Given the description of an element on the screen output the (x, y) to click on. 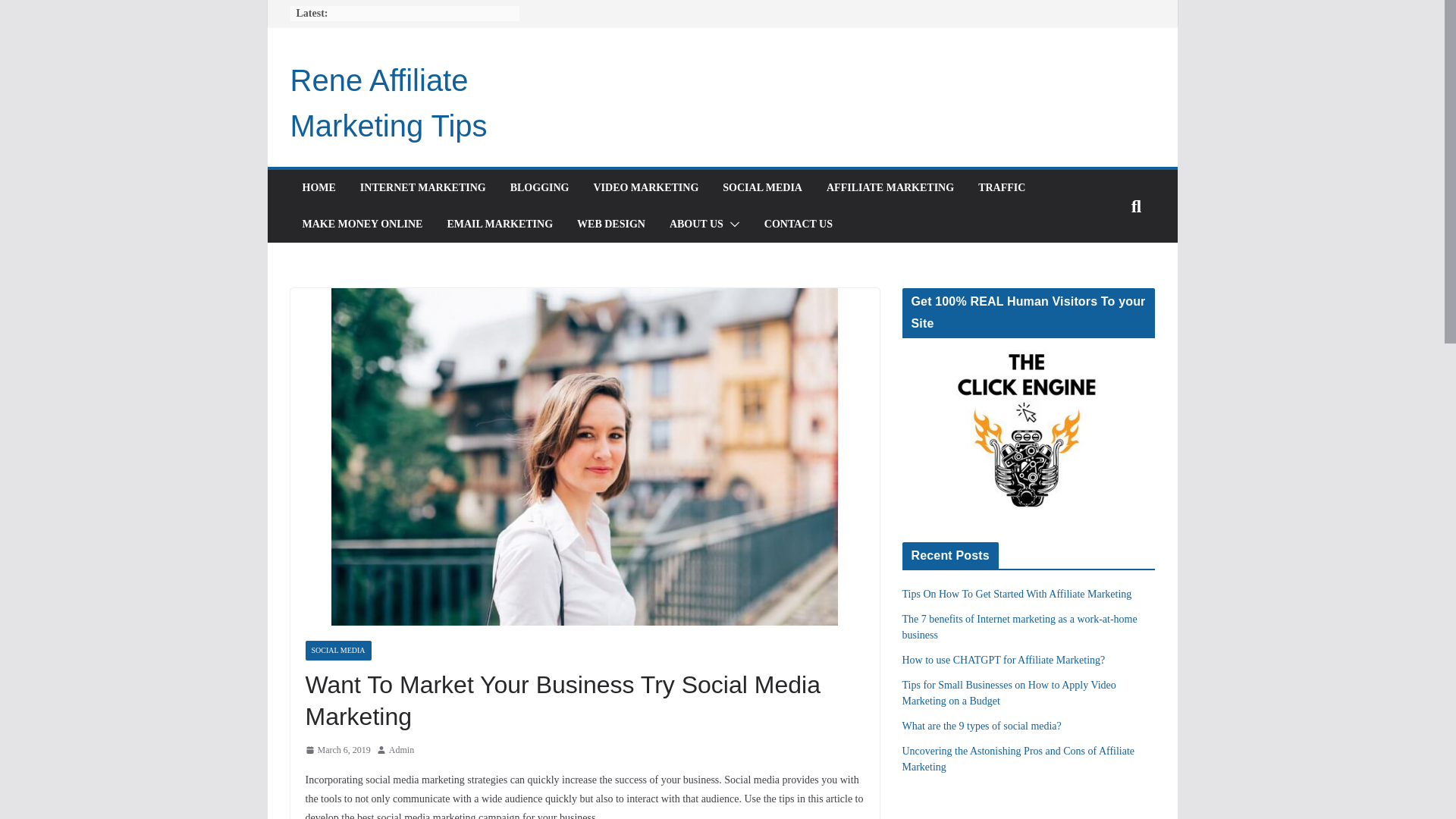
CONTACT US (798, 224)
AFFILIATE MARKETING (890, 188)
5:14 pm (336, 750)
SOCIAL MEDIA (337, 650)
Rene Affiliate Marketing Tips (387, 102)
WEB DESIGN (610, 224)
INTERNET MARKETING (422, 188)
MAKE MONEY ONLINE (361, 224)
Tips On How To Get Started With Affiliate Marketing (1017, 593)
SOCIAL MEDIA (762, 188)
